Given the description of an element on the screen output the (x, y) to click on. 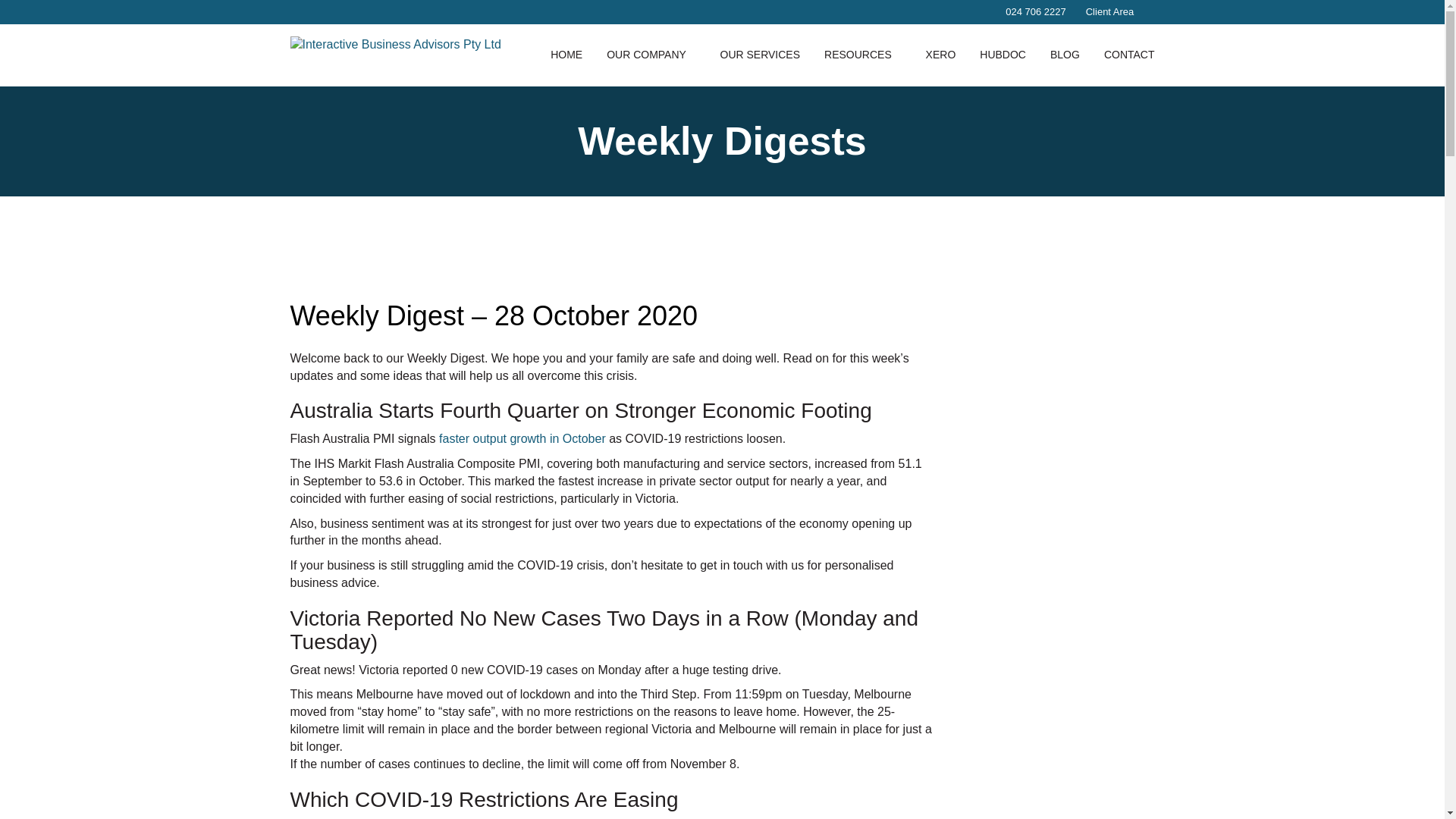
Blog (1065, 54)
Client Area (1115, 11)
Our Company (650, 54)
024 706 2227 (1029, 12)
faster output growth in October (522, 438)
XERO (941, 54)
BLOG (1065, 54)
HUBDOC (1003, 54)
Hubdoc (1003, 54)
Xero (941, 54)
Resources (863, 54)
RESOURCES  (863, 54)
Our Services (759, 54)
Contact (1129, 54)
HOME (566, 54)
